Given the description of an element on the screen output the (x, y) to click on. 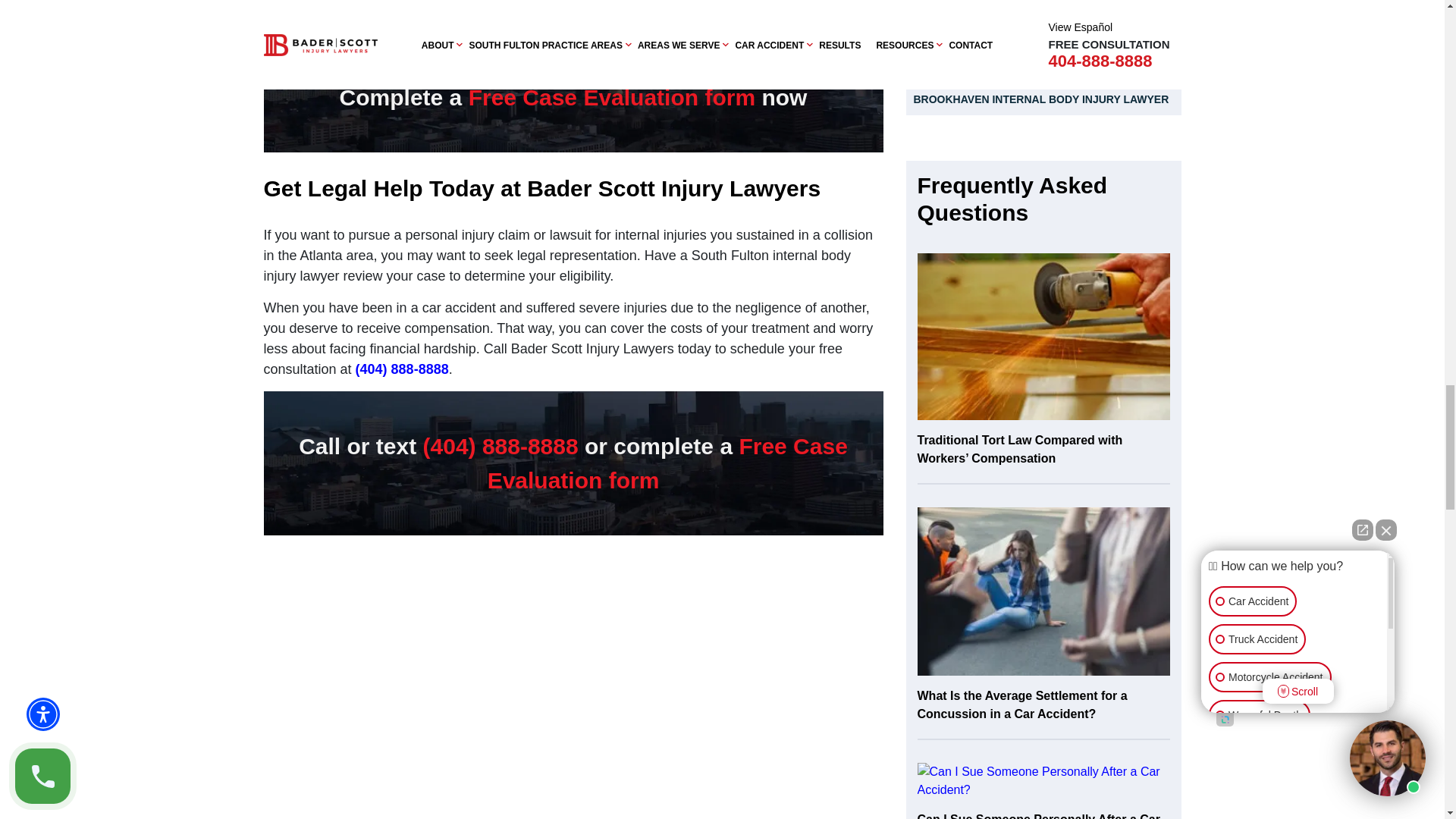
Can I Sue Someone Personally After a Car Accident? (1043, 780)
Can I Sue Someone Personally After a Car Accident? (1043, 790)
